Given the description of an element on the screen output the (x, y) to click on. 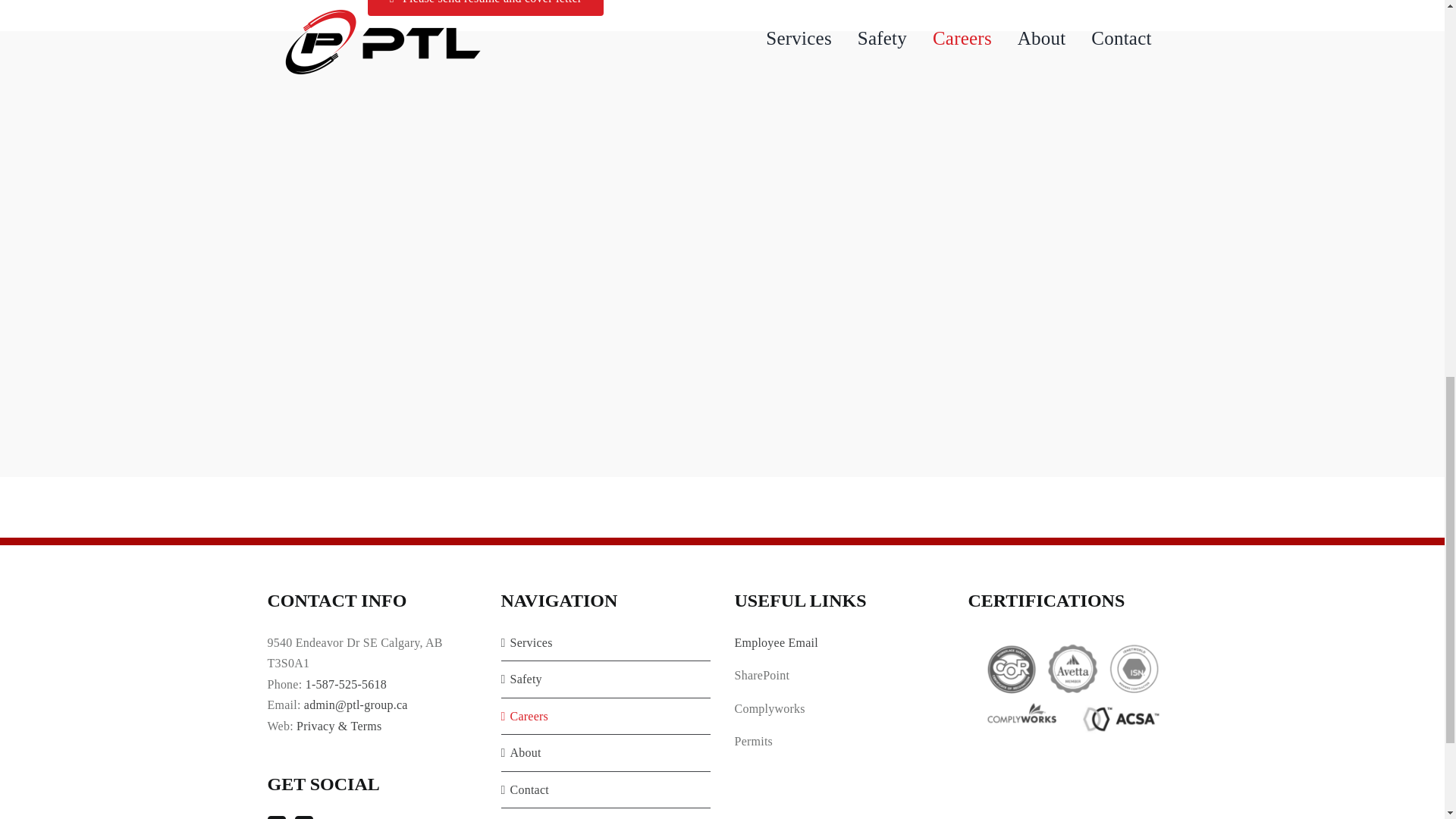
Careers (605, 716)
Please send resume and cover letter (486, 7)
Services (605, 642)
Contact (605, 789)
1-587-525-5618 (346, 684)
Employee Email (774, 642)
Safety (605, 679)
About (605, 752)
